Given the description of an element on the screen output the (x, y) to click on. 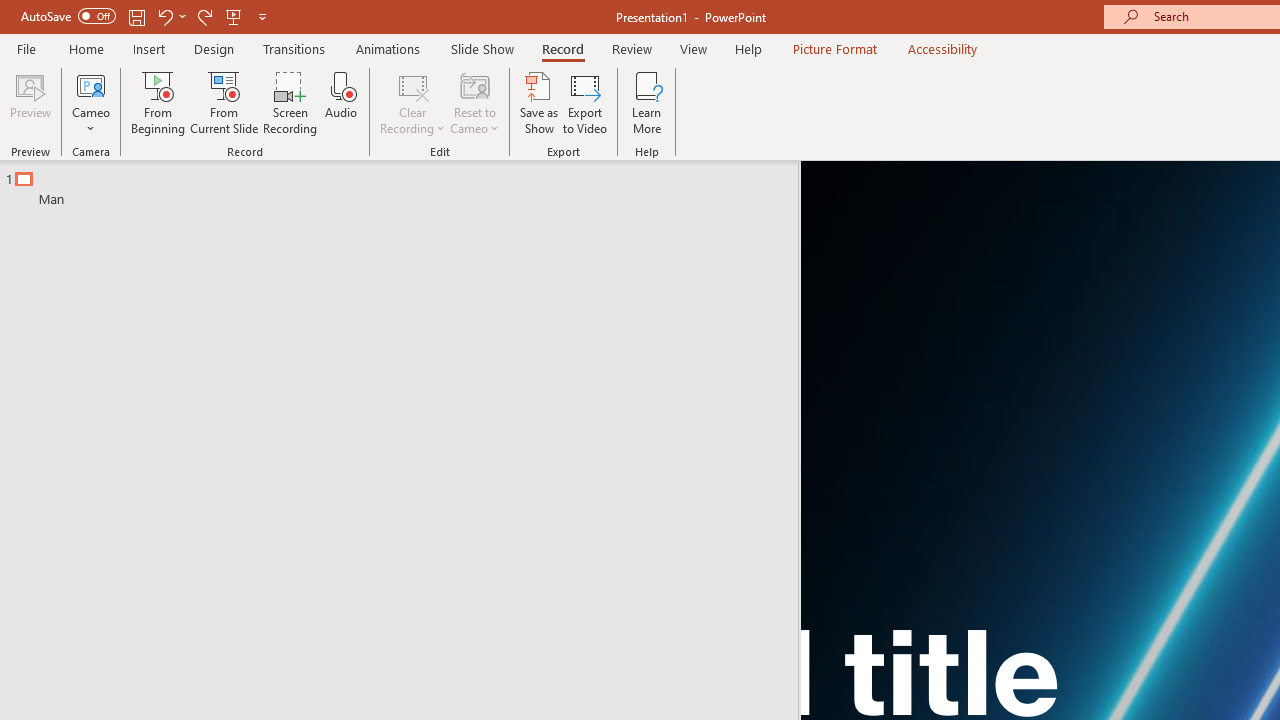
Help (748, 48)
Redo (204, 15)
Accessibility (942, 48)
Outline (408, 184)
More Options (91, 121)
AutoSave (68, 16)
Cameo (91, 84)
Preview (30, 102)
Cameo (91, 102)
File Tab (26, 48)
Review (631, 48)
Insert (149, 48)
